Given the description of an element on the screen output the (x, y) to click on. 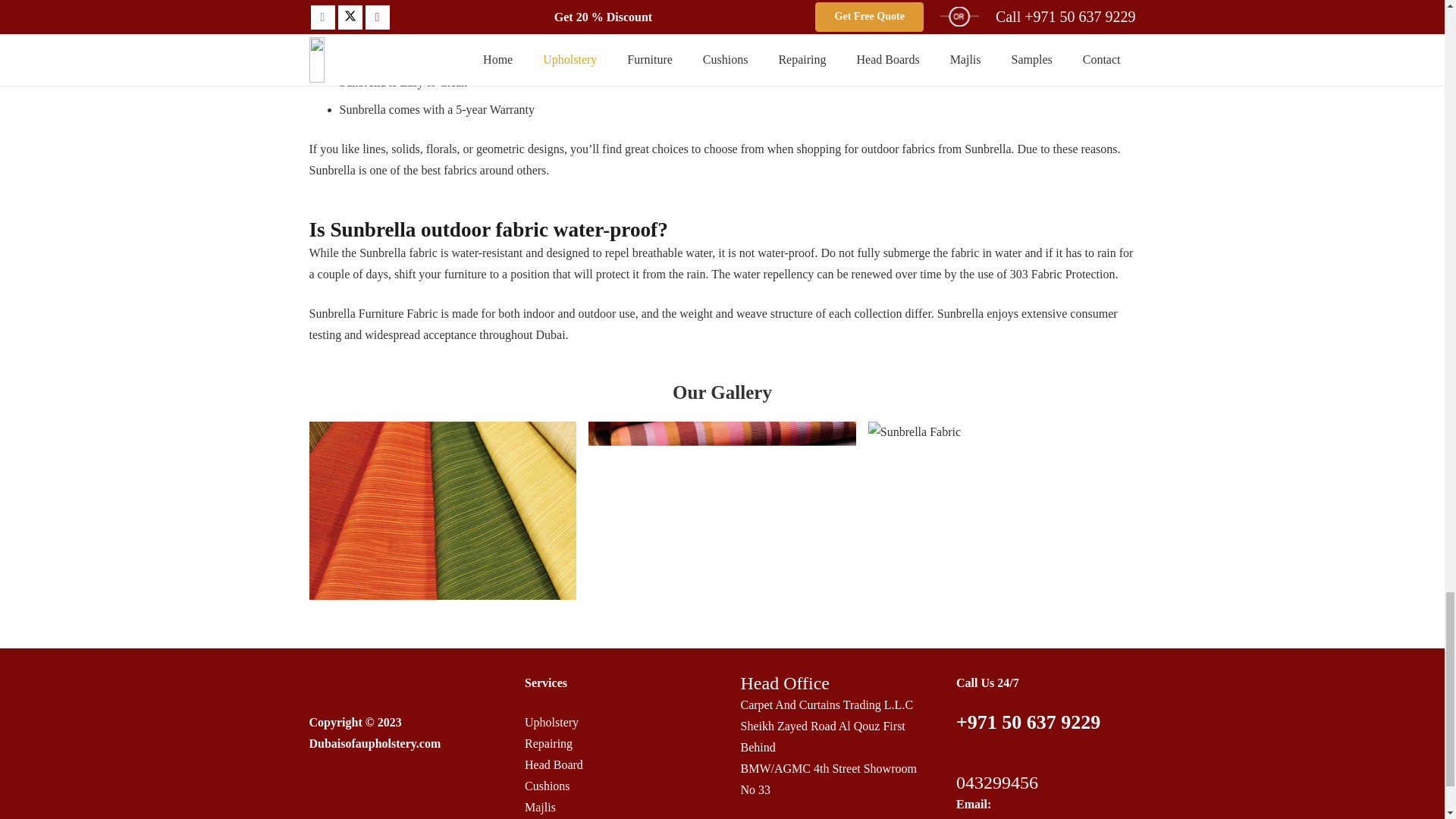
Sunbrella Fabric (1001, 510)
Sunbrella Fabric (722, 510)
Sunbrella Fabric (442, 510)
